Given the description of an element on the screen output the (x, y) to click on. 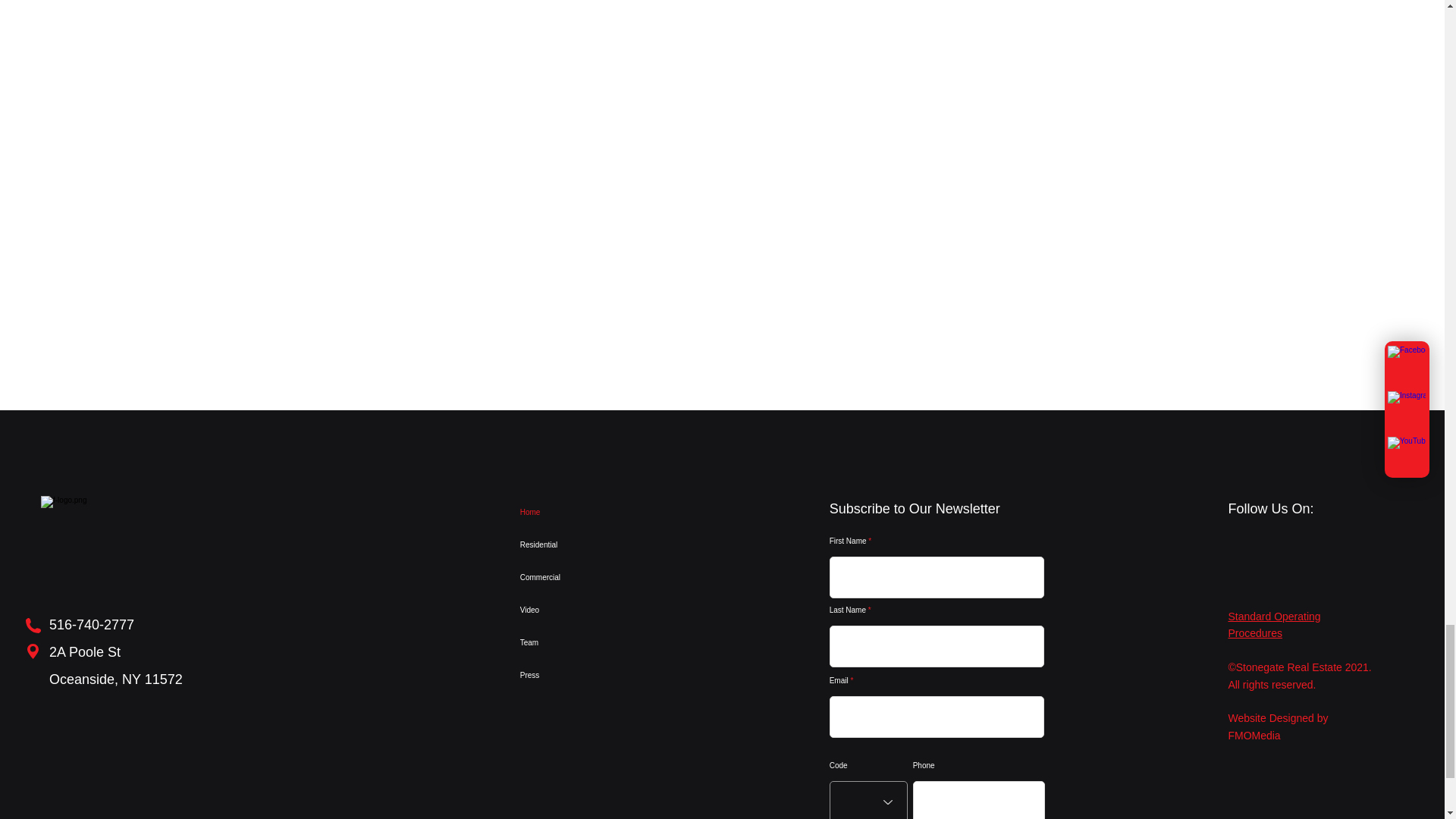
Home (584, 512)
Press (584, 675)
Oceanside, NY 11572 (116, 679)
Video (584, 609)
516-740-2777 (91, 624)
2A Poole St (84, 652)
